Given the description of an element on the screen output the (x, y) to click on. 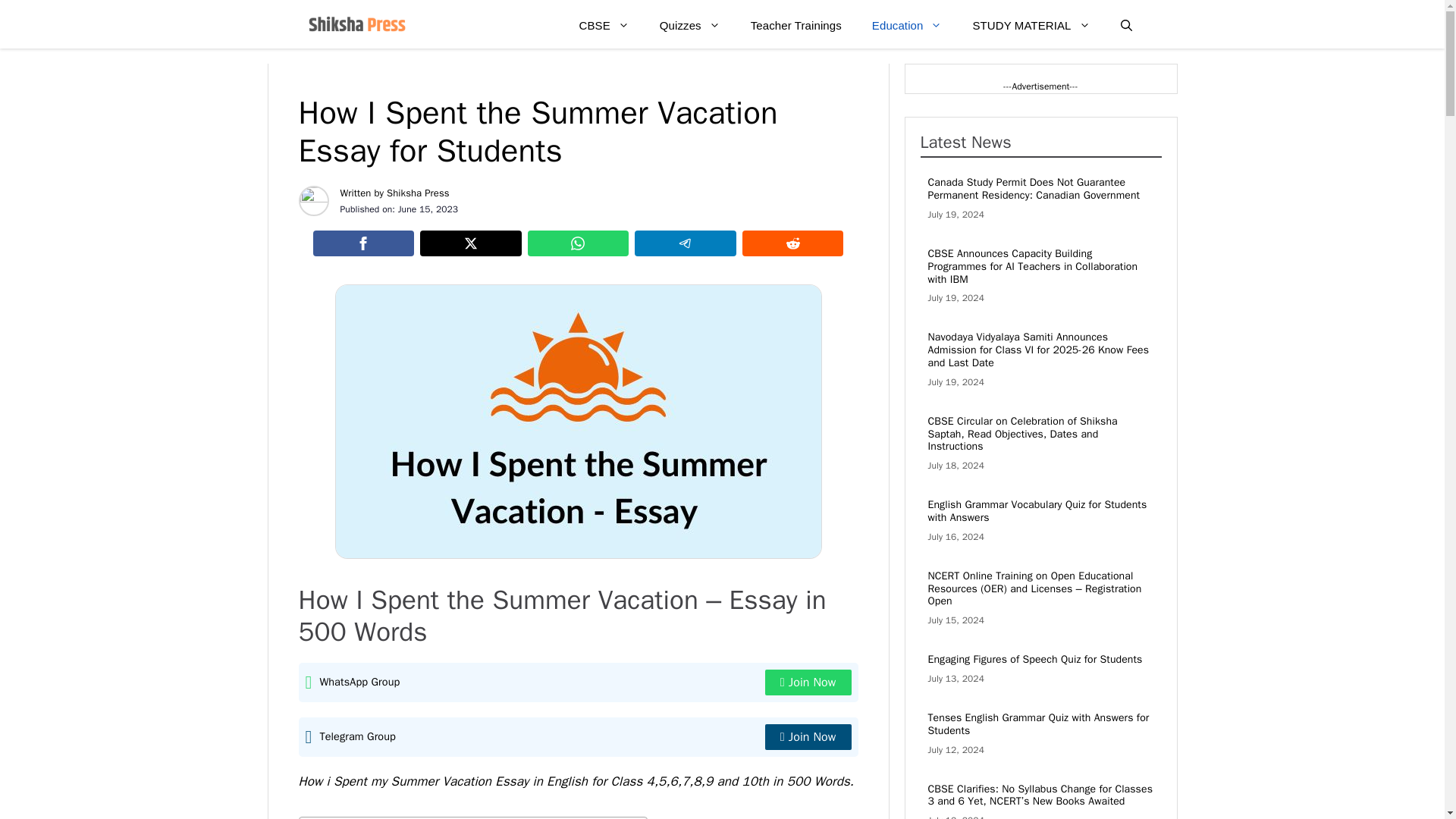
Shiksha Press (418, 192)
Quizzes (690, 25)
CBSE (604, 25)
STUDY MATERIAL (1030, 25)
Education (907, 25)
Teacher Trainings (796, 25)
